Given the description of an element on the screen output the (x, y) to click on. 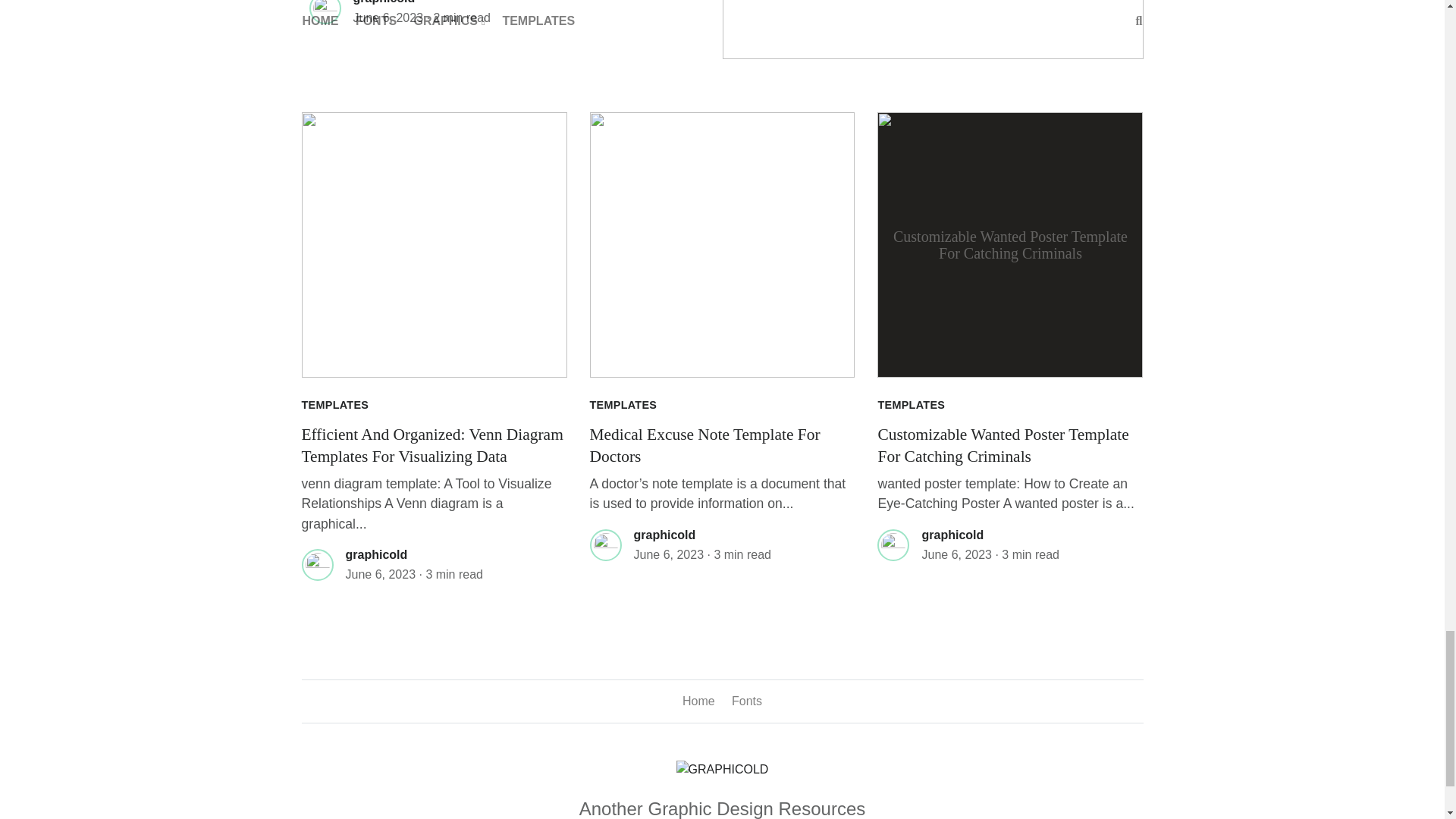
Posts by graphicold (383, 2)
Posts by graphicold (952, 534)
Posts by graphicold (376, 554)
graphicold (383, 2)
Posts by graphicold (664, 534)
